Given the description of an element on the screen output the (x, y) to click on. 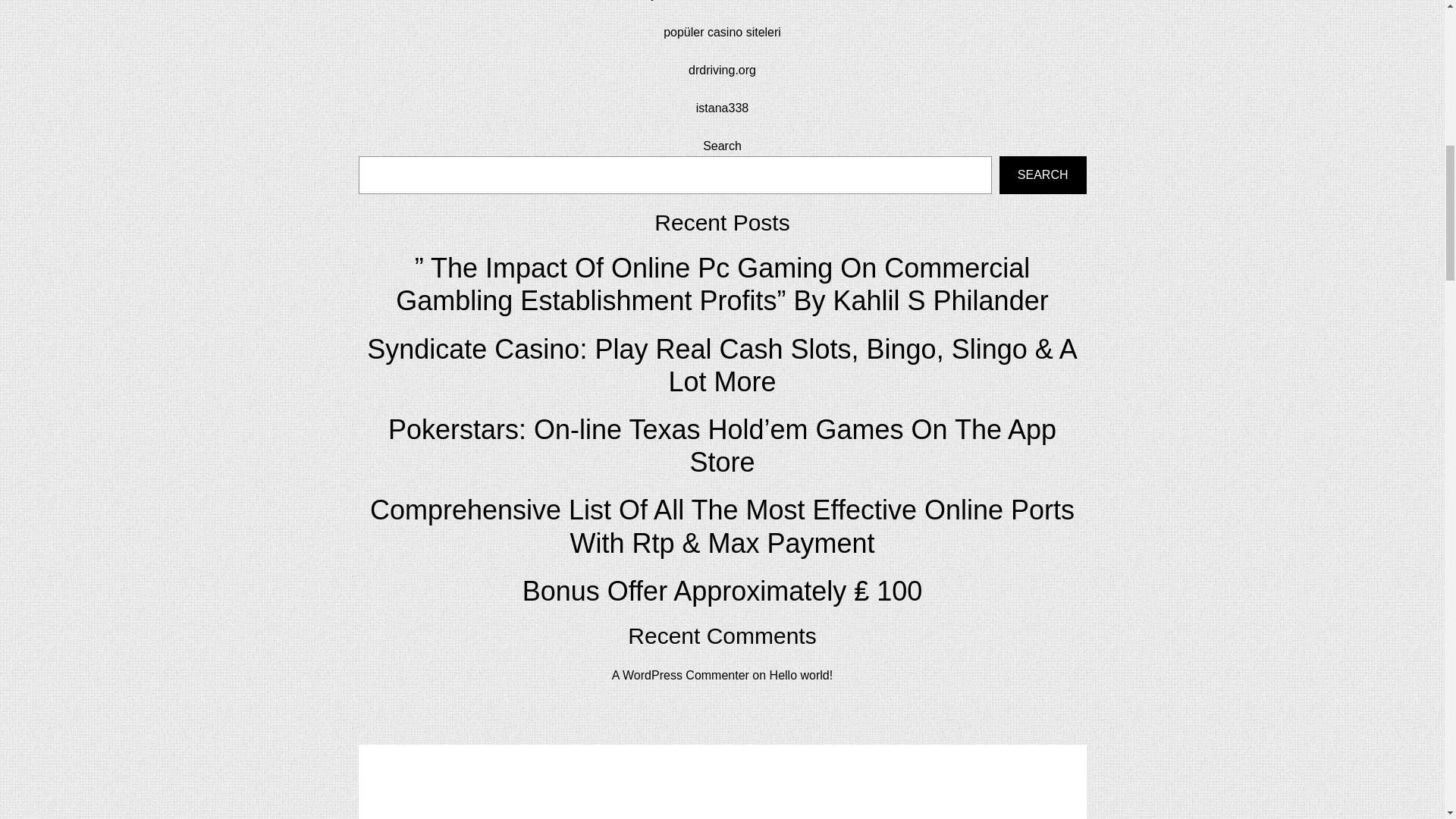
Hello world! (801, 675)
istana338 (721, 107)
SEARCH (1042, 175)
A WordPress Commenter (680, 675)
drdriving.org (721, 69)
